Given the description of an element on the screen output the (x, y) to click on. 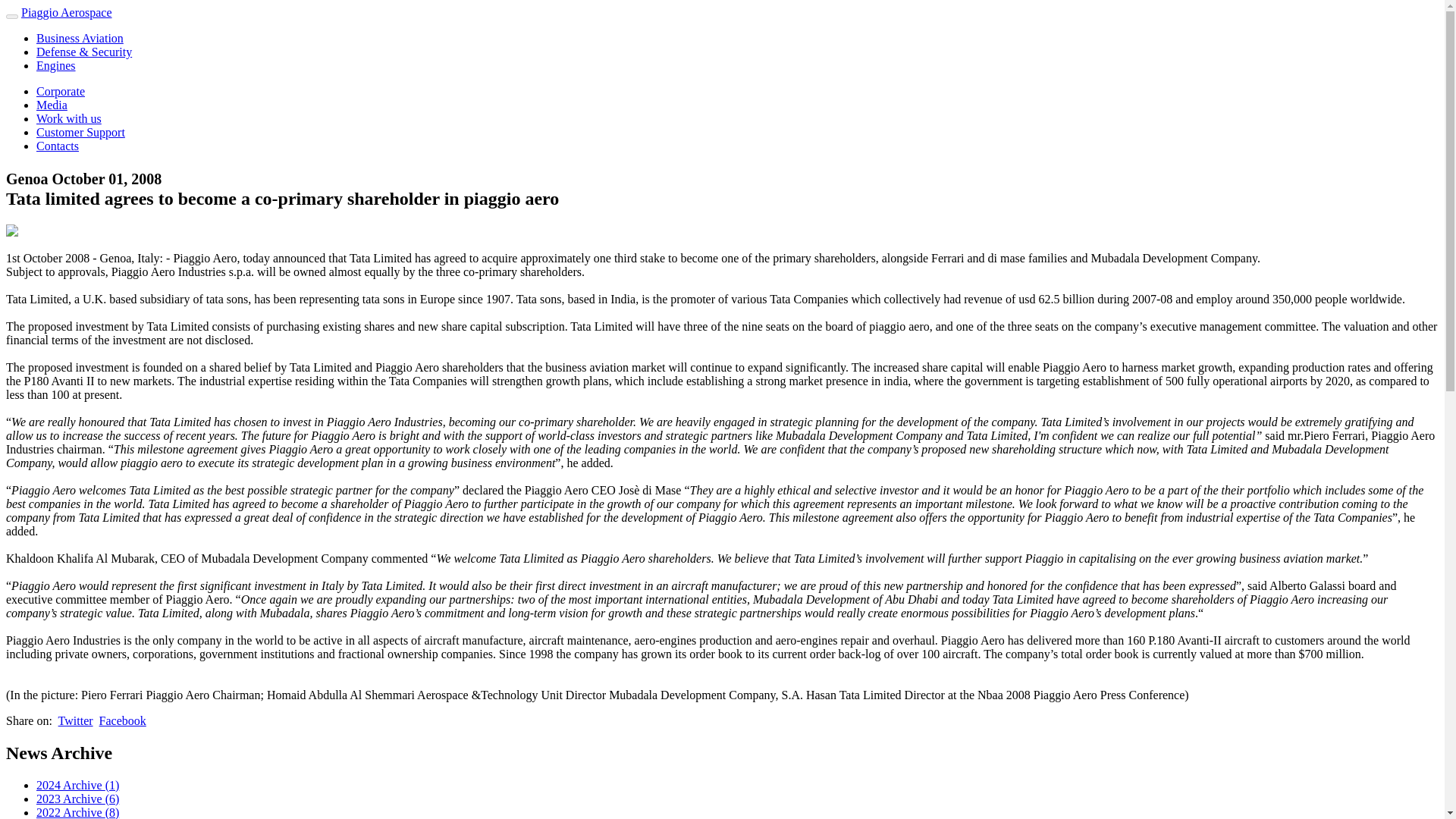
Corporate (60, 91)
Facebook (123, 720)
Media (51, 104)
Work with us (68, 118)
Contacts (57, 145)
Business Aviation (79, 38)
Engines (55, 65)
Piaggio Aerospace (66, 11)
Customer Support (80, 132)
Twitter (75, 720)
